Given the description of an element on the screen output the (x, y) to click on. 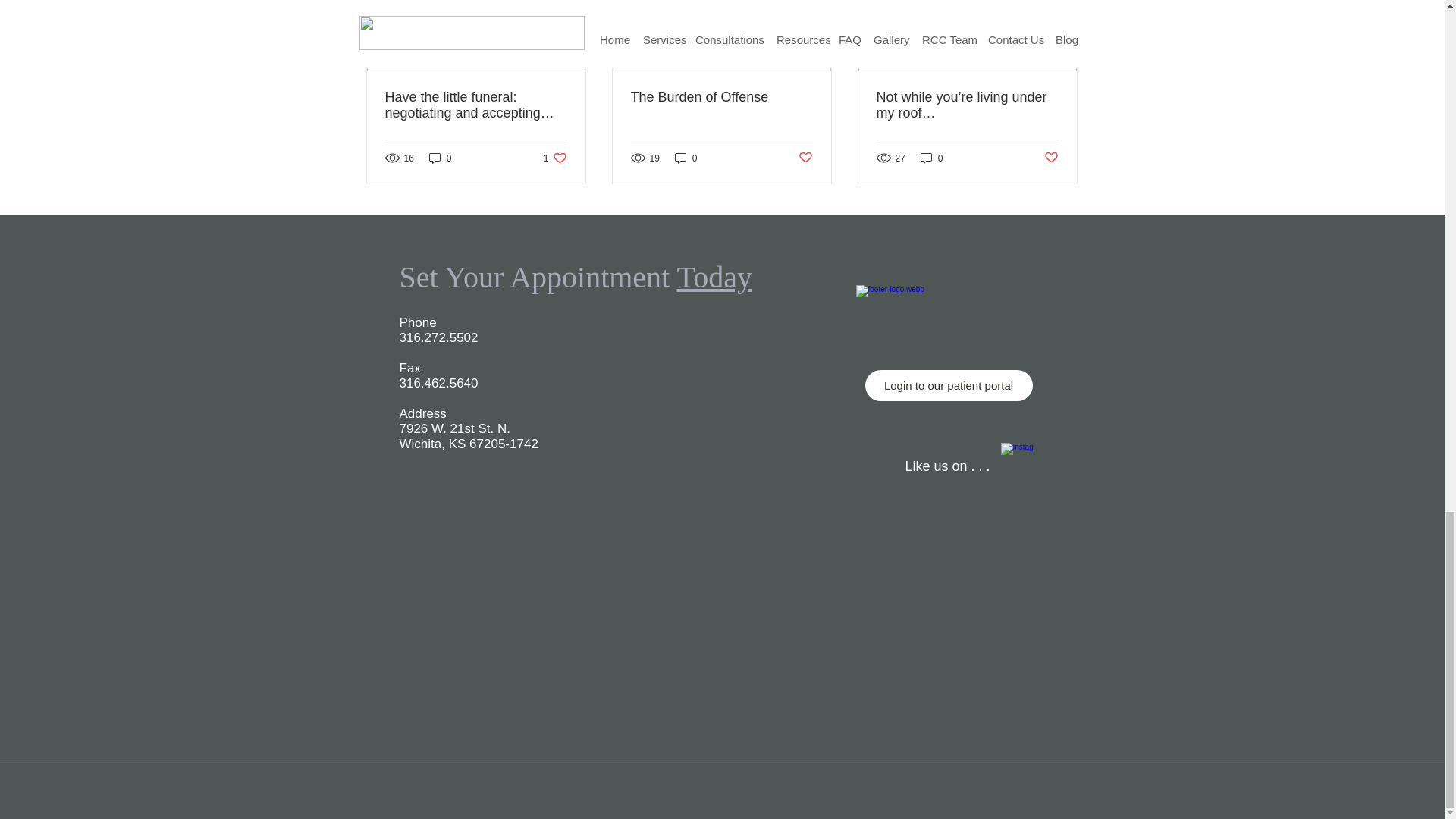
Set Your Appointment Today (574, 277)
Post not marked as liked (1050, 157)
0 (685, 157)
Login to our patient portal (948, 385)
Have the little funeral: negotiating and accepting loss (476, 105)
The Burden of Offense (721, 97)
Post not marked as liked (804, 157)
0 (931, 157)
0 (555, 157)
